Given the description of an element on the screen output the (x, y) to click on. 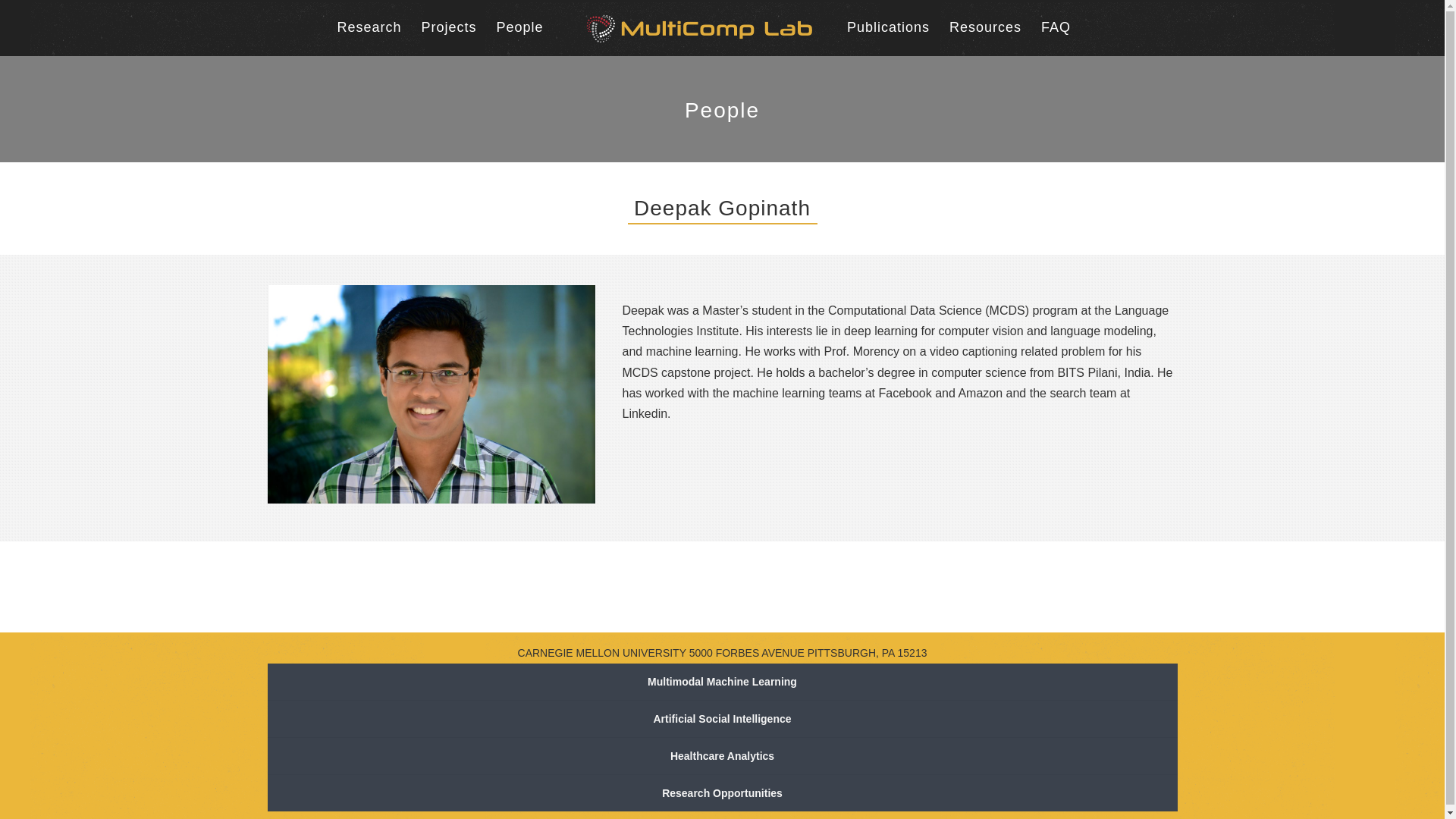
Artificial Social Intelligence (721, 719)
Publications (888, 27)
Multimodal Machine Learning (721, 682)
People (519, 27)
Healthcare Analytics (721, 755)
Research (368, 27)
Projects (448, 27)
FAQ (1055, 27)
Resources (985, 27)
Research Opportunities (721, 792)
